Given the description of an element on the screen output the (x, y) to click on. 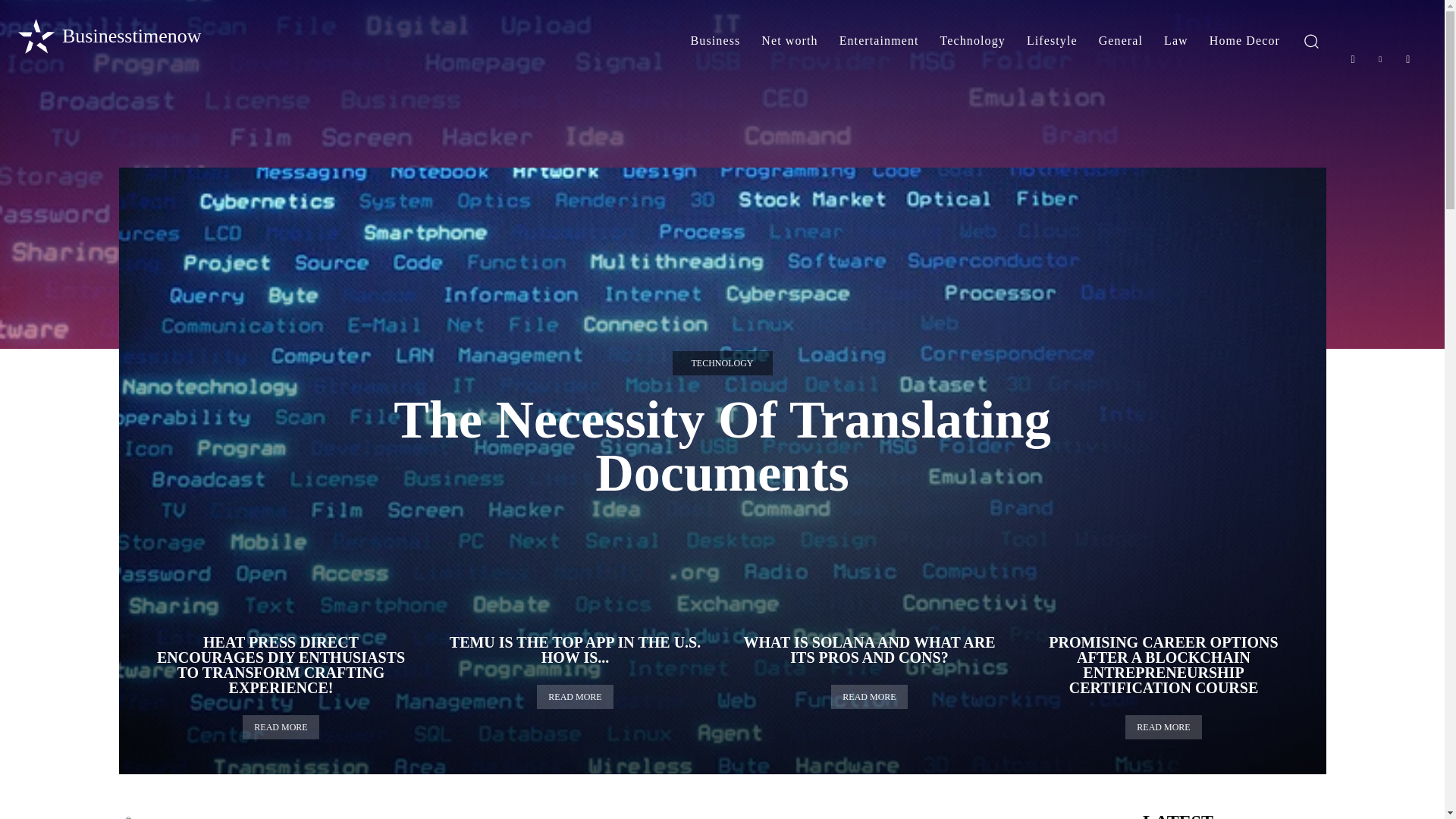
Businesstimenow (107, 36)
Businesstimenow (107, 36)
Lifestyle (1051, 40)
Net worth (789, 40)
General (1120, 40)
Linkedin (1380, 58)
Technology (973, 40)
TECHNOLOGY (721, 362)
Entertainment (879, 40)
RSS (1408, 58)
Home Decor (1244, 40)
Facebook (1353, 58)
Law (1175, 40)
Business (715, 40)
